Given the description of an element on the screen output the (x, y) to click on. 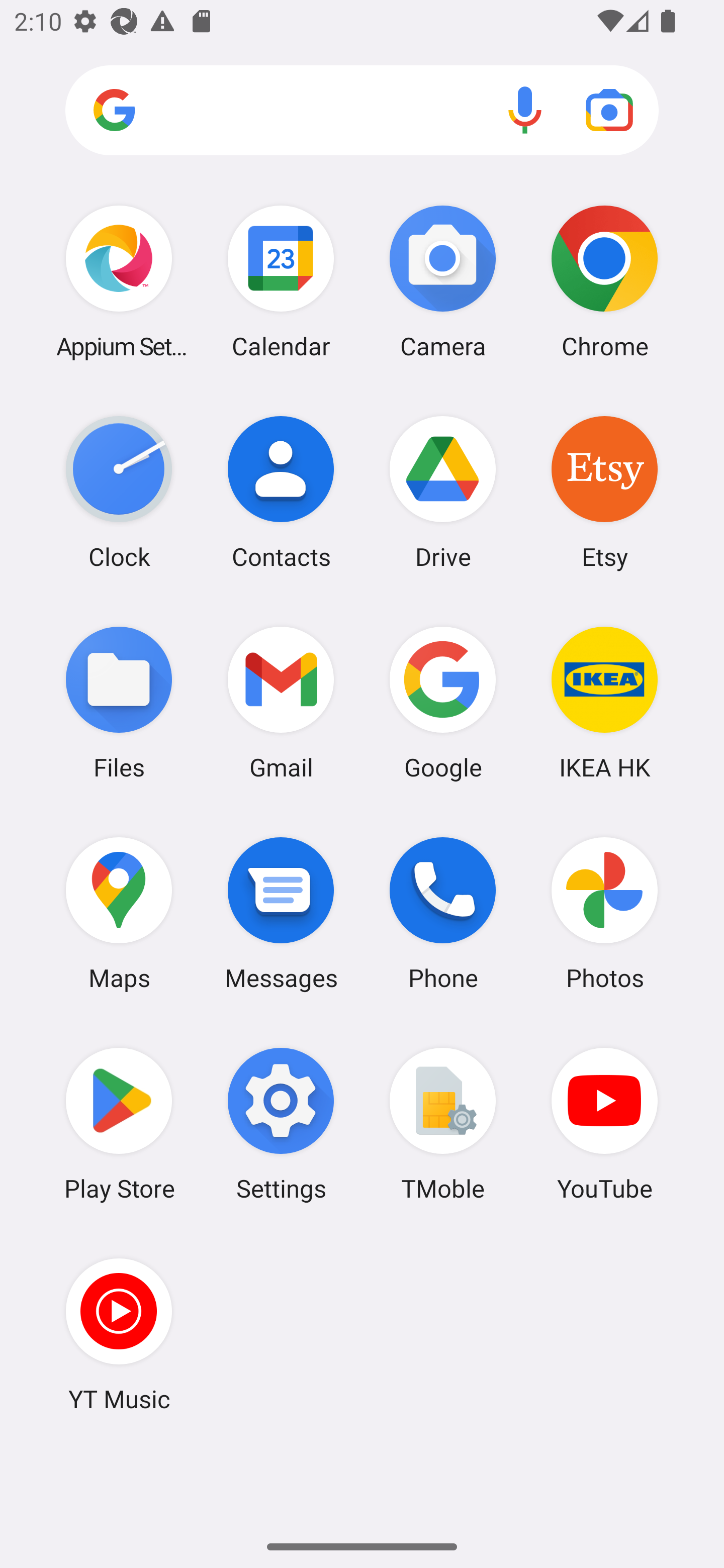
Search apps, web and more (361, 110)
Voice search (524, 109)
Google Lens (608, 109)
Appium Settings (118, 281)
Calendar (280, 281)
Camera (443, 281)
Chrome (604, 281)
Clock (118, 492)
Contacts (280, 492)
Drive (443, 492)
Etsy (604, 492)
Files (118, 702)
Gmail (280, 702)
Google (443, 702)
IKEA HK (604, 702)
Maps (118, 913)
Messages (280, 913)
Phone (443, 913)
Photos (604, 913)
Play Store (118, 1124)
Settings (280, 1124)
TMoble (443, 1124)
YouTube (604, 1124)
YT Music (118, 1334)
